Given the description of an element on the screen output the (x, y) to click on. 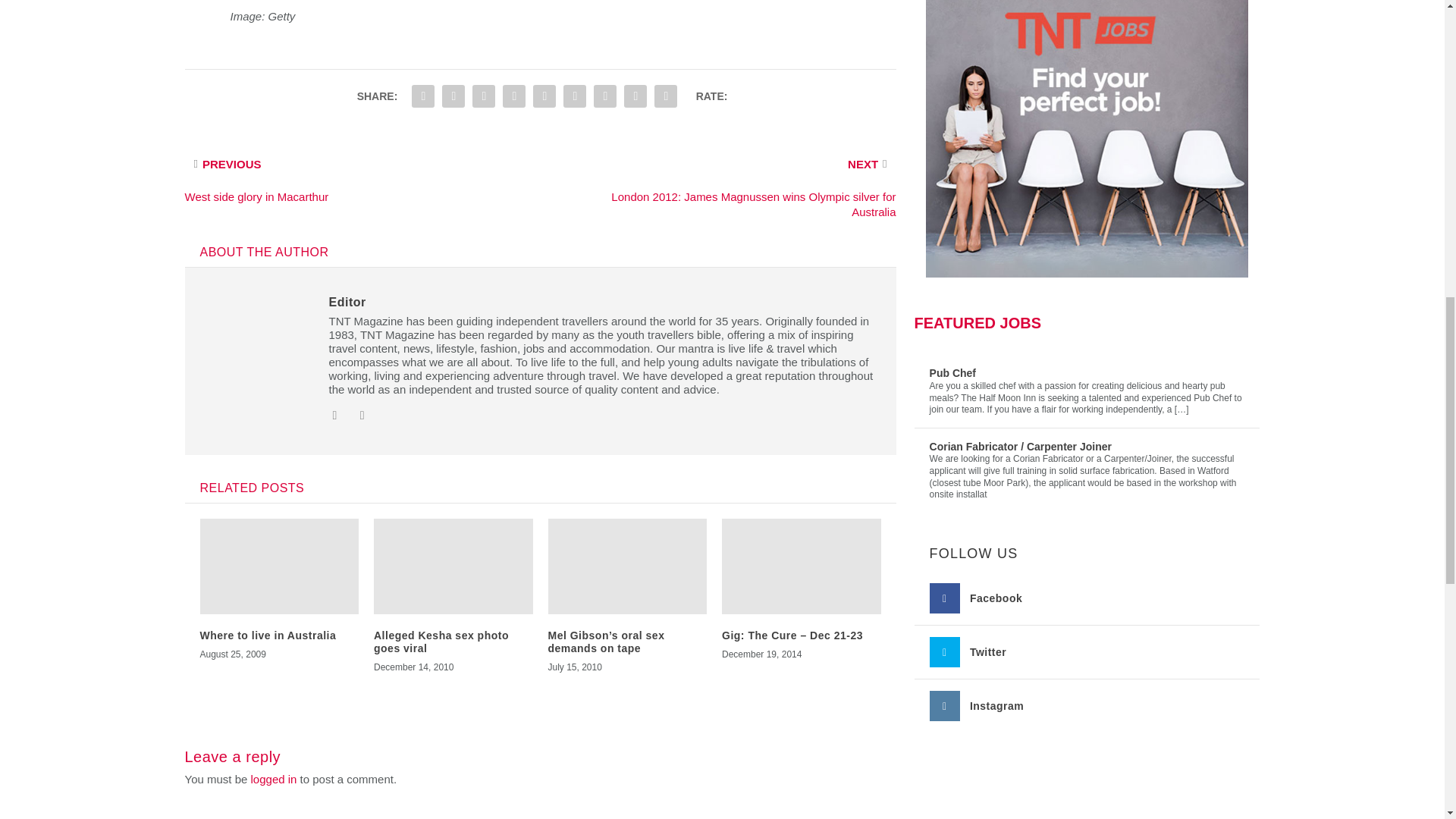
Share "Irish author Maeve Binchy dies, aged 72" via Tumblr (483, 96)
Share "Irish author Maeve Binchy dies, aged 72" via Buffer (574, 96)
Editor (347, 301)
Share "Irish author Maeve Binchy dies, aged 72" via Facebook (422, 96)
Where to live in Australia (268, 635)
Share "Irish author Maeve Binchy dies, aged 72" via Email (635, 96)
Alleged Kesha sex photo goes viral (441, 641)
Share "Irish author Maeve Binchy dies, aged 72" via Twitter (453, 96)
Share "Irish author Maeve Binchy dies, aged 72" via LinkedIn (544, 96)
